Given the description of an element on the screen output the (x, y) to click on. 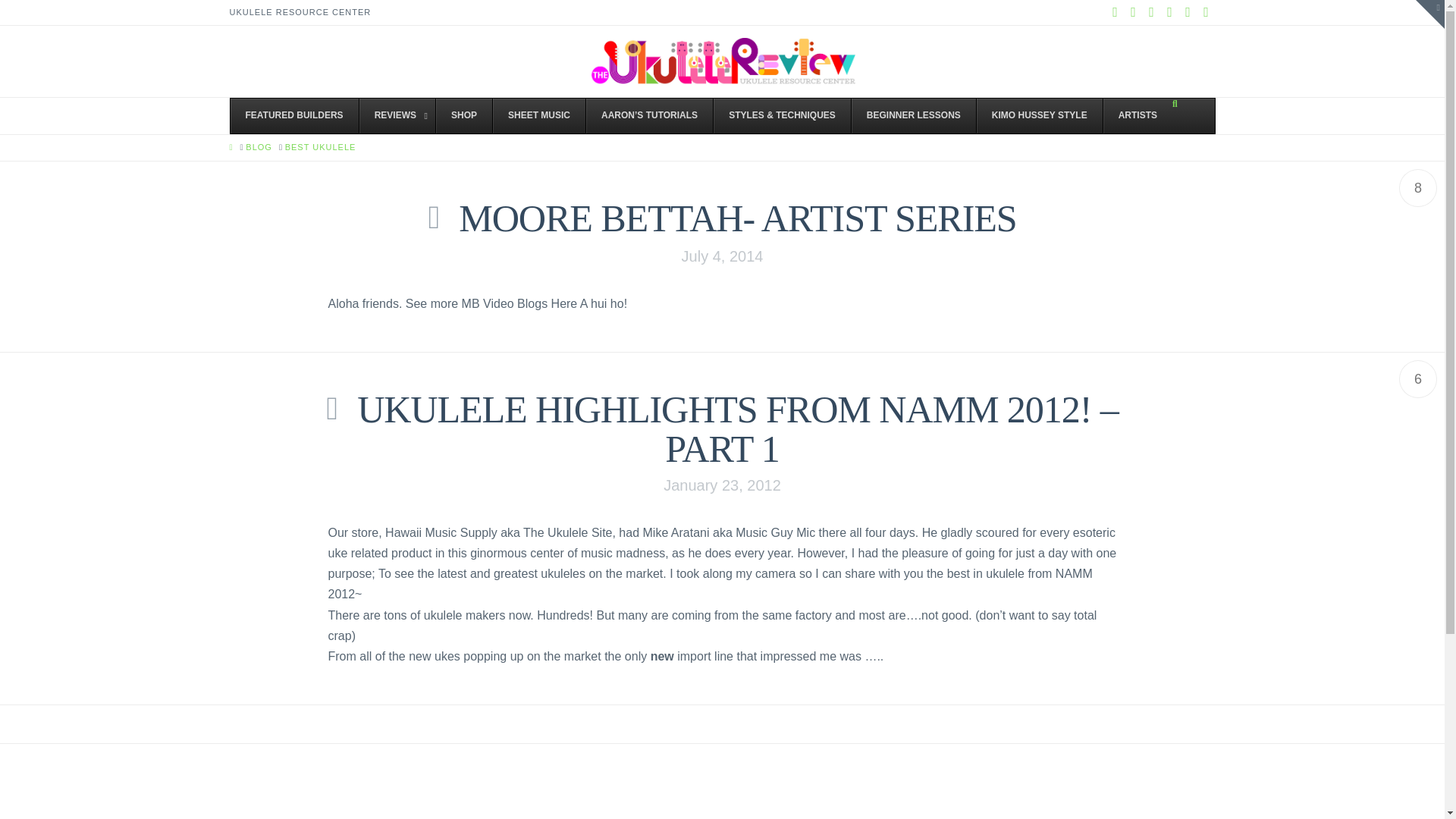
BEST UKULELE (320, 147)
6 (1418, 379)
BEGINNER LESSONS (912, 115)
BLOG (259, 147)
REVIEWS (396, 115)
8 (1418, 187)
ARTISTS (1137, 115)
SHOP (463, 115)
KIMO HUSSEY STYLE (1038, 115)
Permalink to: "Moore Bettah- Artist Series" (737, 218)
